Given the description of an element on the screen output the (x, y) to click on. 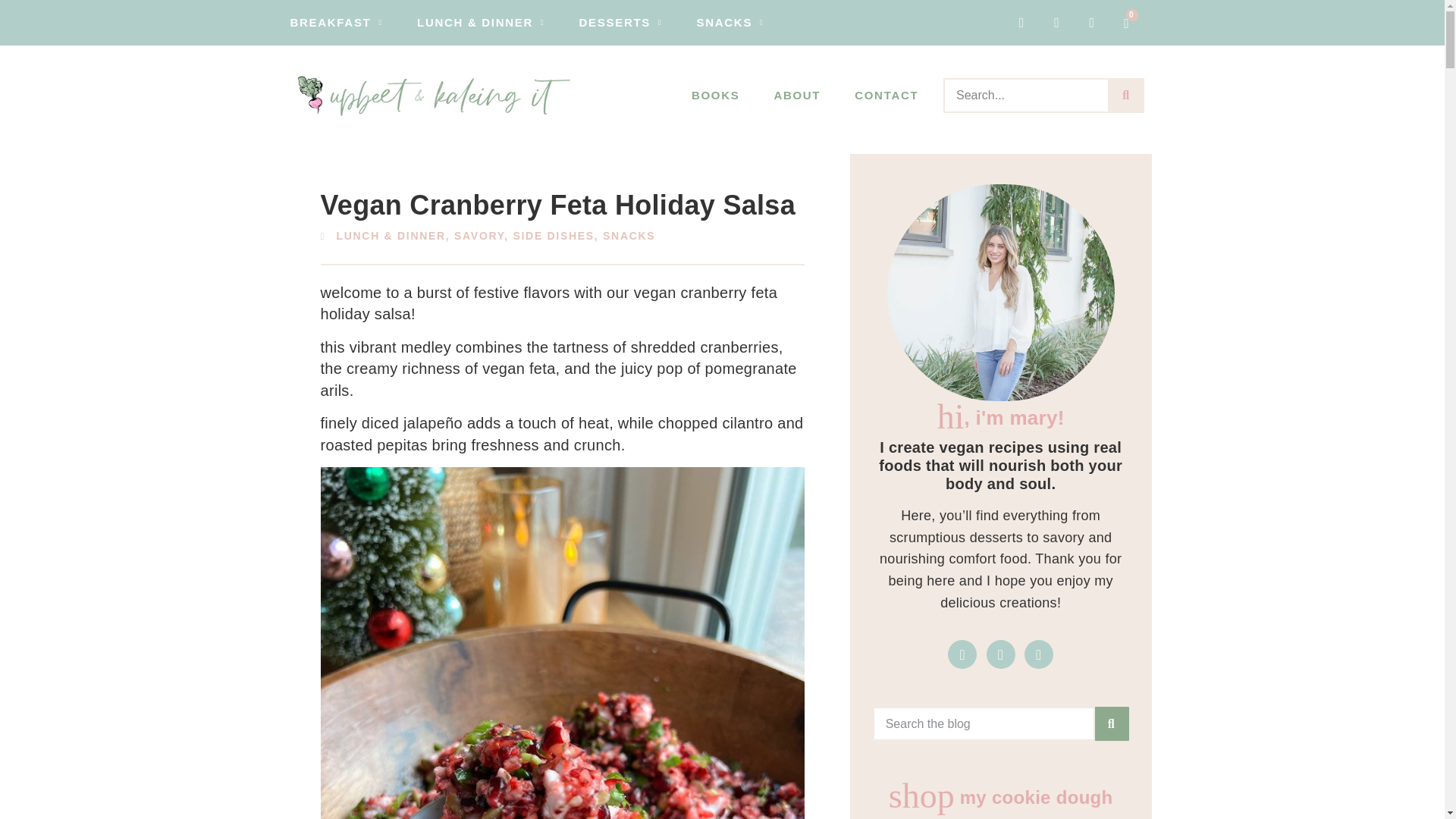
BREAKFAST (335, 22)
SNACKS (730, 22)
DESSERTS (620, 22)
